Given the description of an element on the screen output the (x, y) to click on. 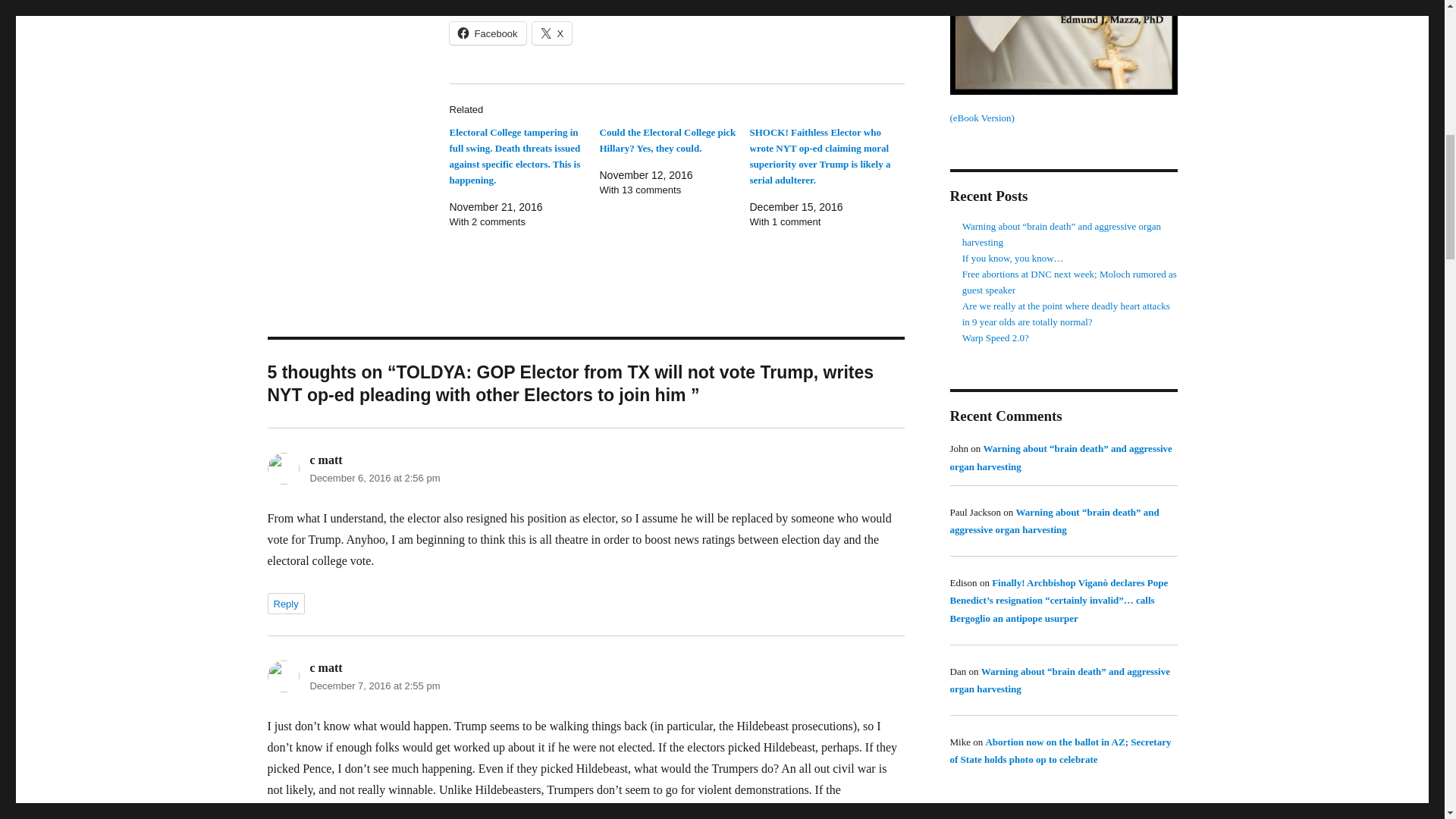
Could the Electoral College pick Hillary? Yes, they could. (666, 139)
December 7, 2016 at 2:55 pm (373, 685)
Click to share on X (552, 33)
December 6, 2016 at 2:56 pm (373, 478)
Reply (285, 603)
X (552, 33)
